Given the description of an element on the screen output the (x, y) to click on. 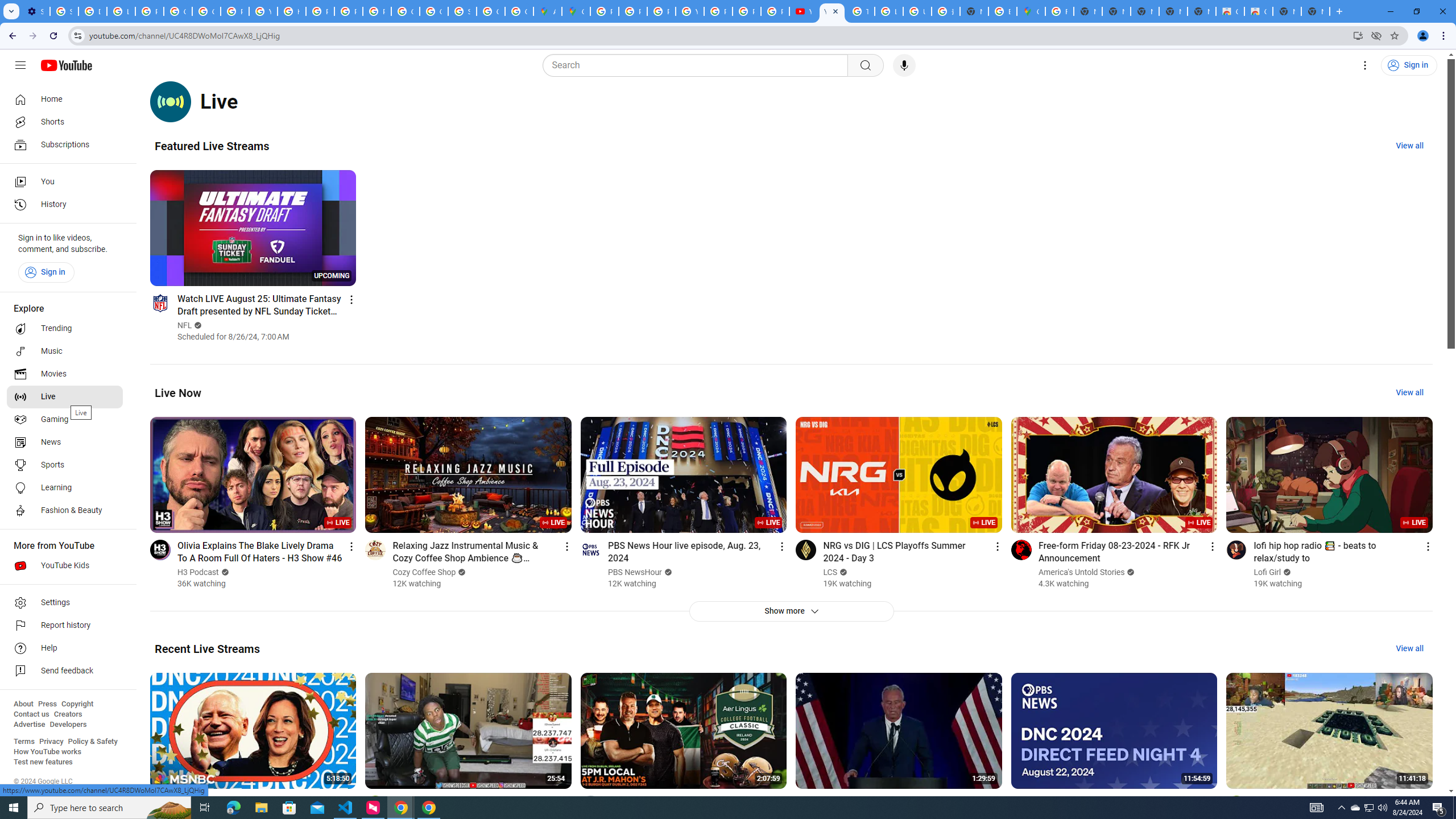
Classic Blue - Chrome Web Store (1230, 11)
Google Maps (1030, 11)
